Given the description of an element on the screen output the (x, y) to click on. 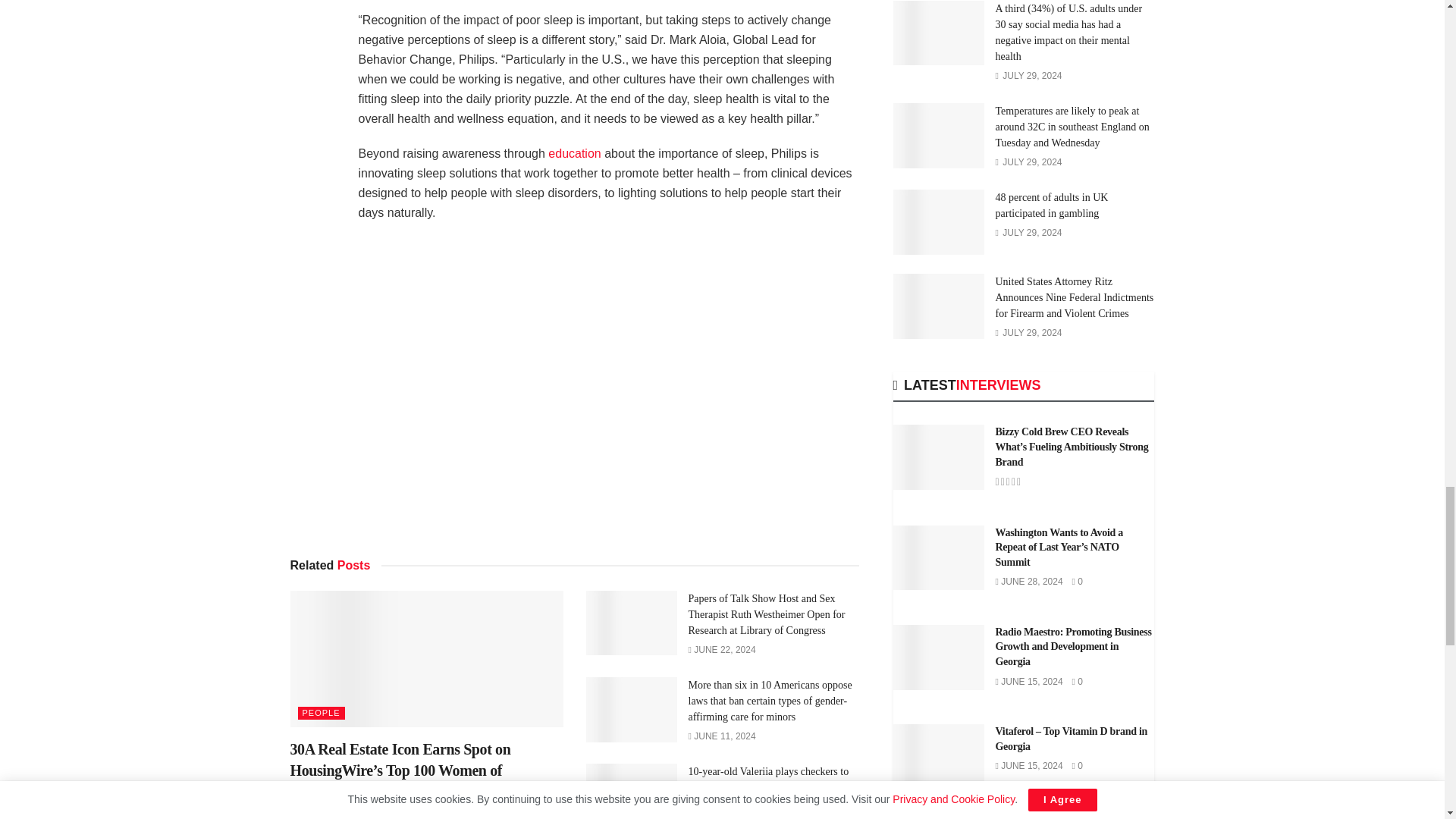
School (573, 153)
